Given the description of an element on the screen output the (x, y) to click on. 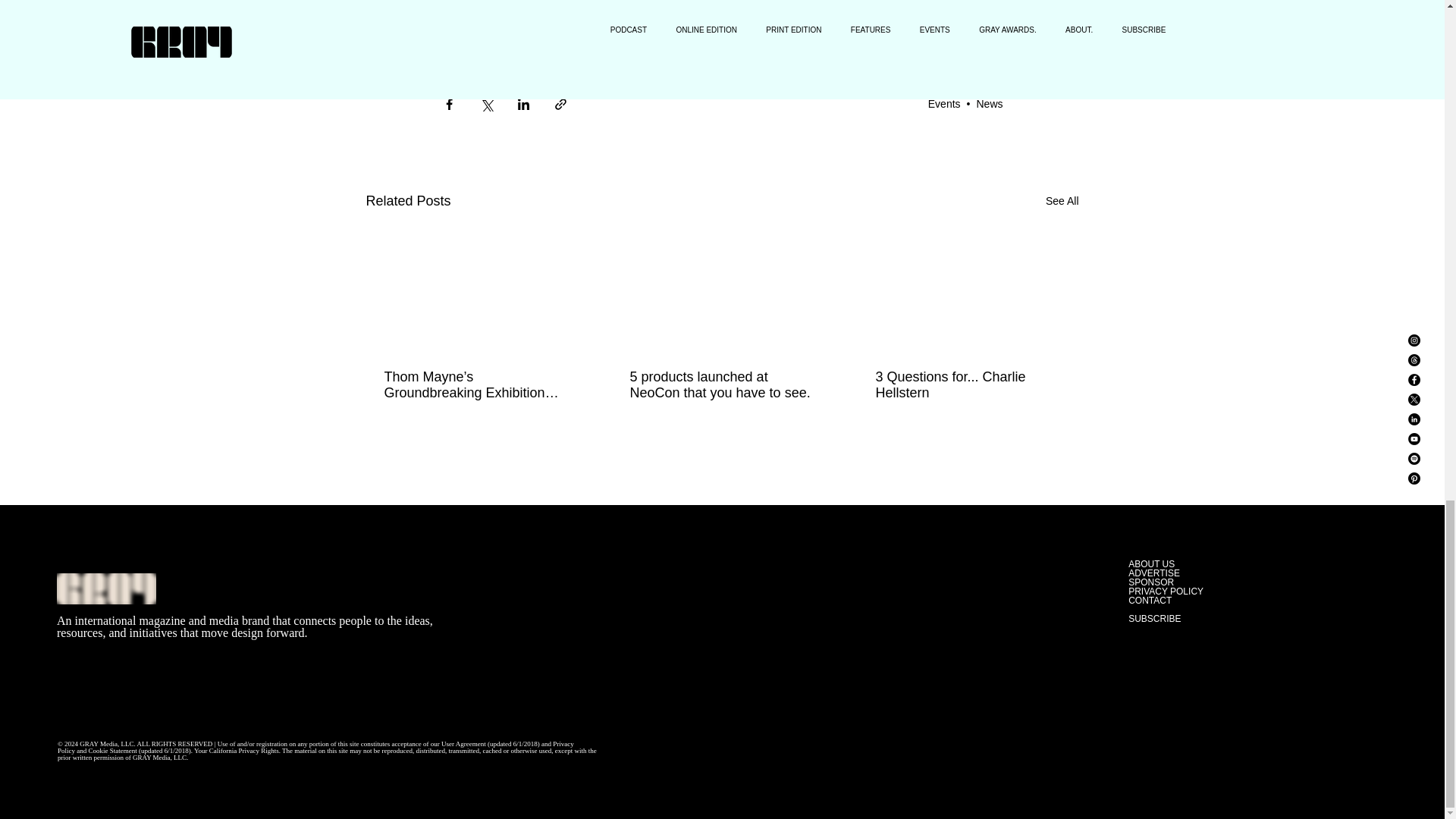
Further details and registration here.  (542, 32)
News (989, 103)
See All (1061, 201)
Events (944, 103)
